Given the description of an element on the screen output the (x, y) to click on. 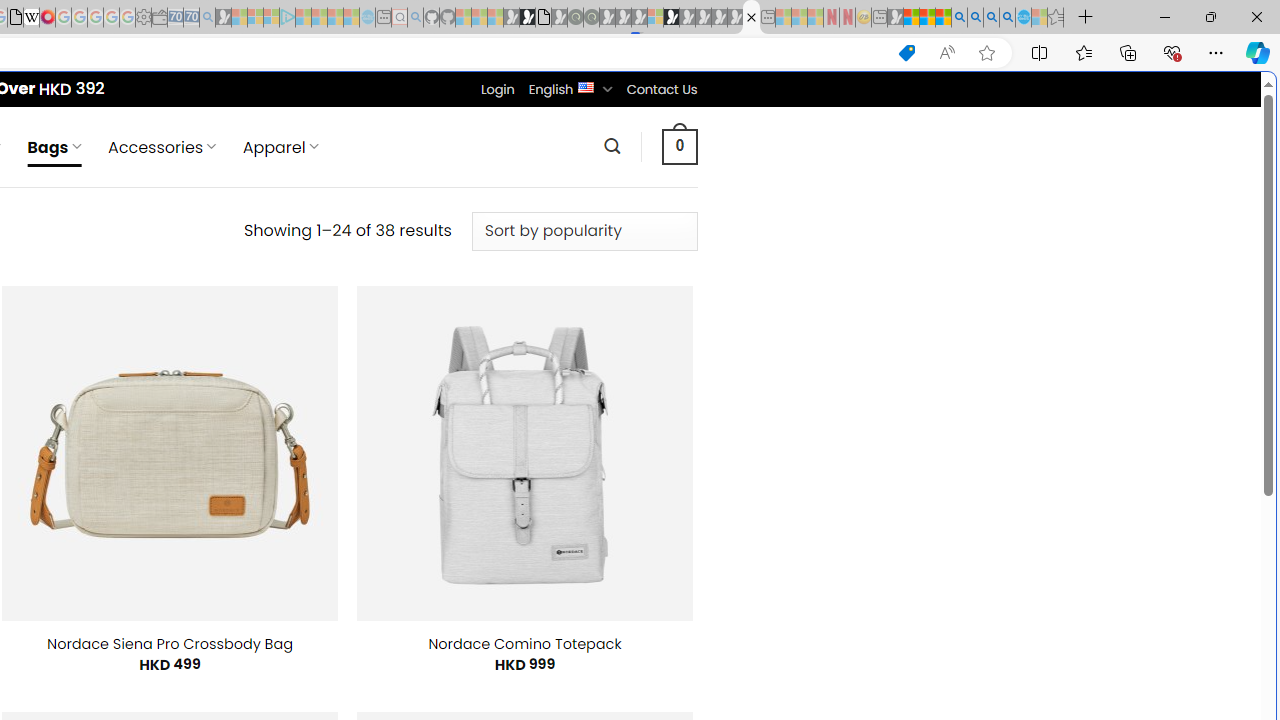
Target page - Wikipedia (31, 17)
Frequently visited (418, 265)
Services - Maintenance | Sky Blue Bikes - Sky Blue Bikes (1023, 17)
Nordace - Bags (751, 17)
